Given the description of an element on the screen output the (x, y) to click on. 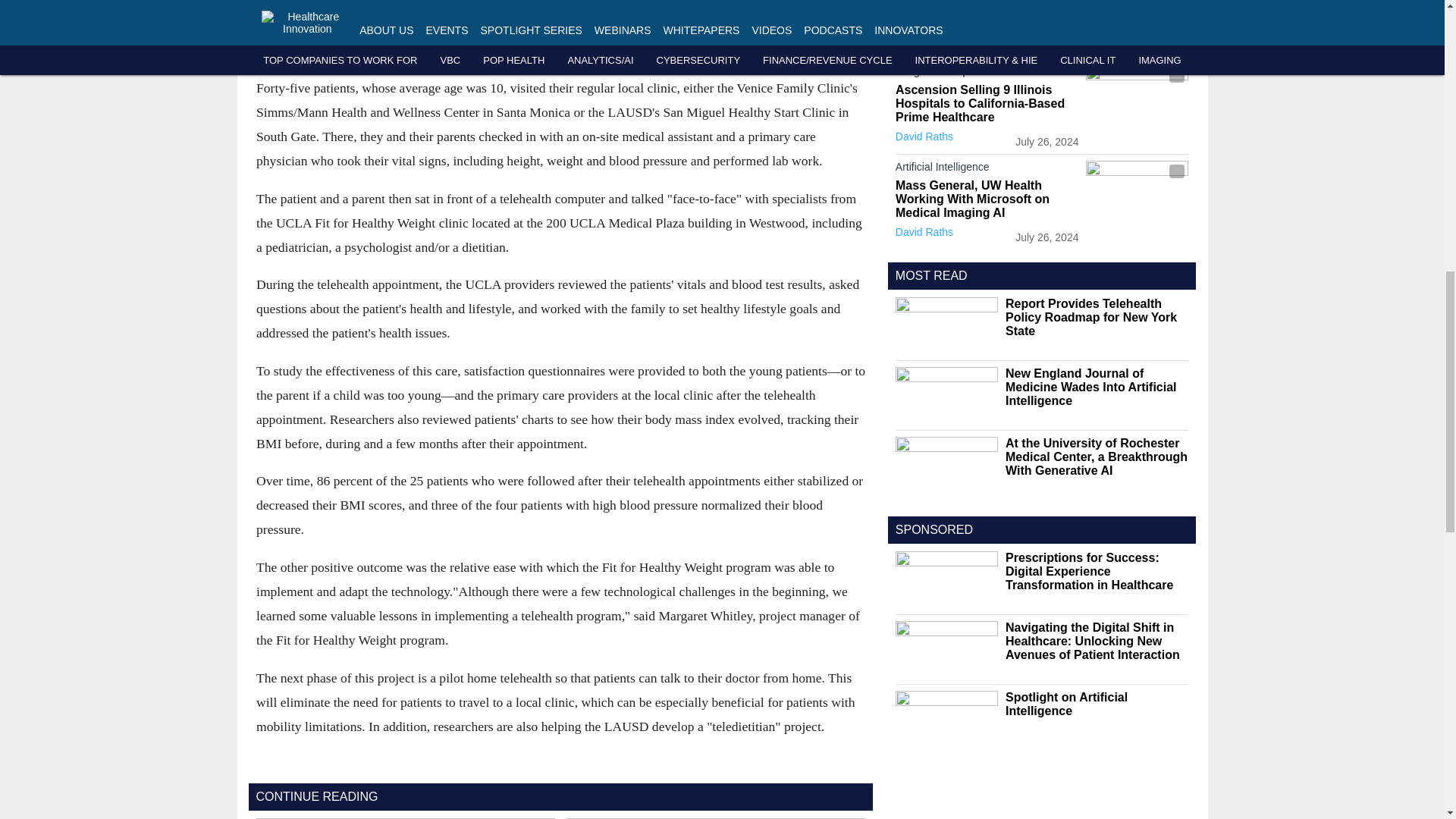
LATEST IN HOME (945, 42)
